Given the description of an element on the screen output the (x, y) to click on. 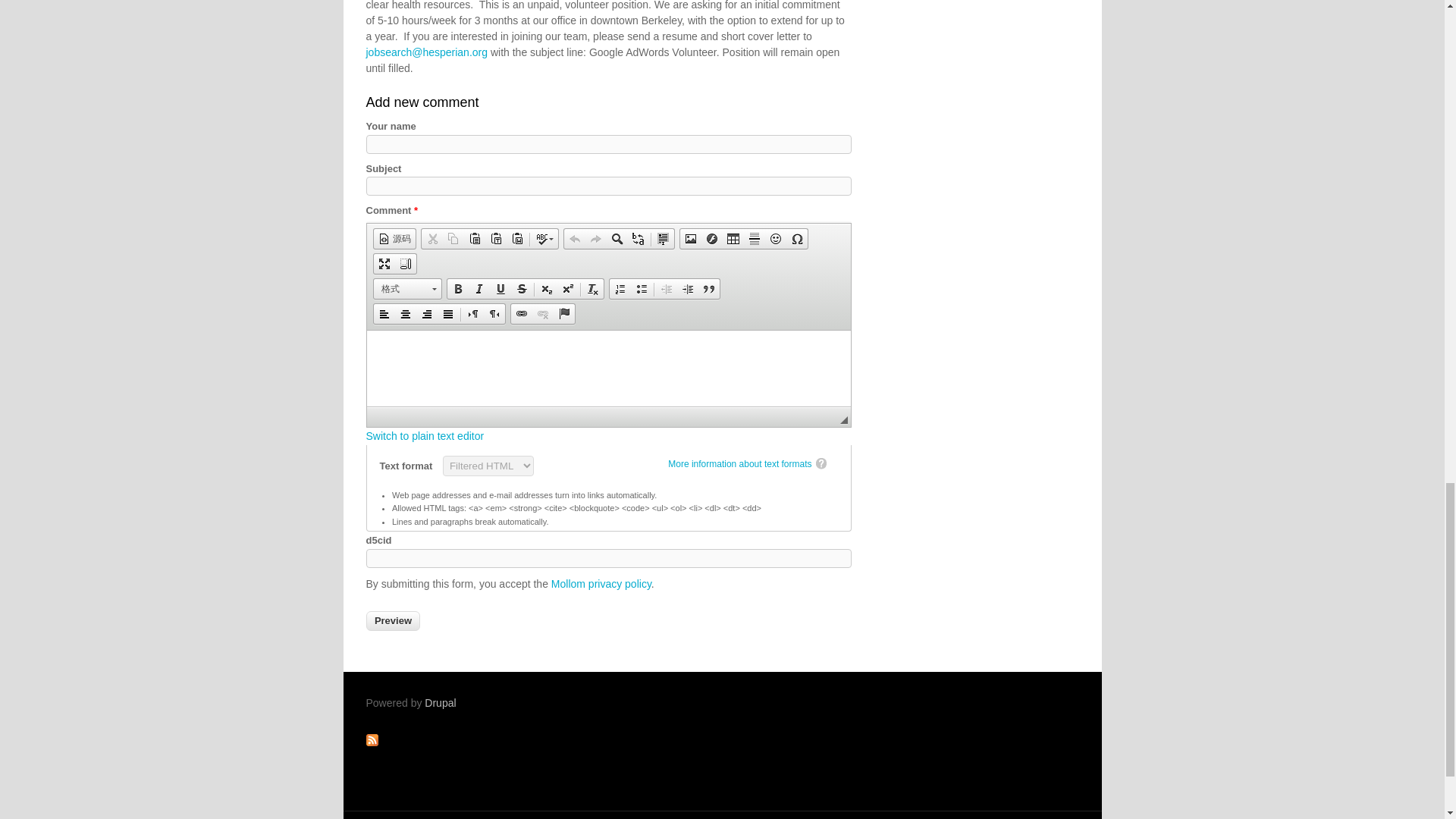
Flash (711, 238)
